Given the description of an element on the screen output the (x, y) to click on. 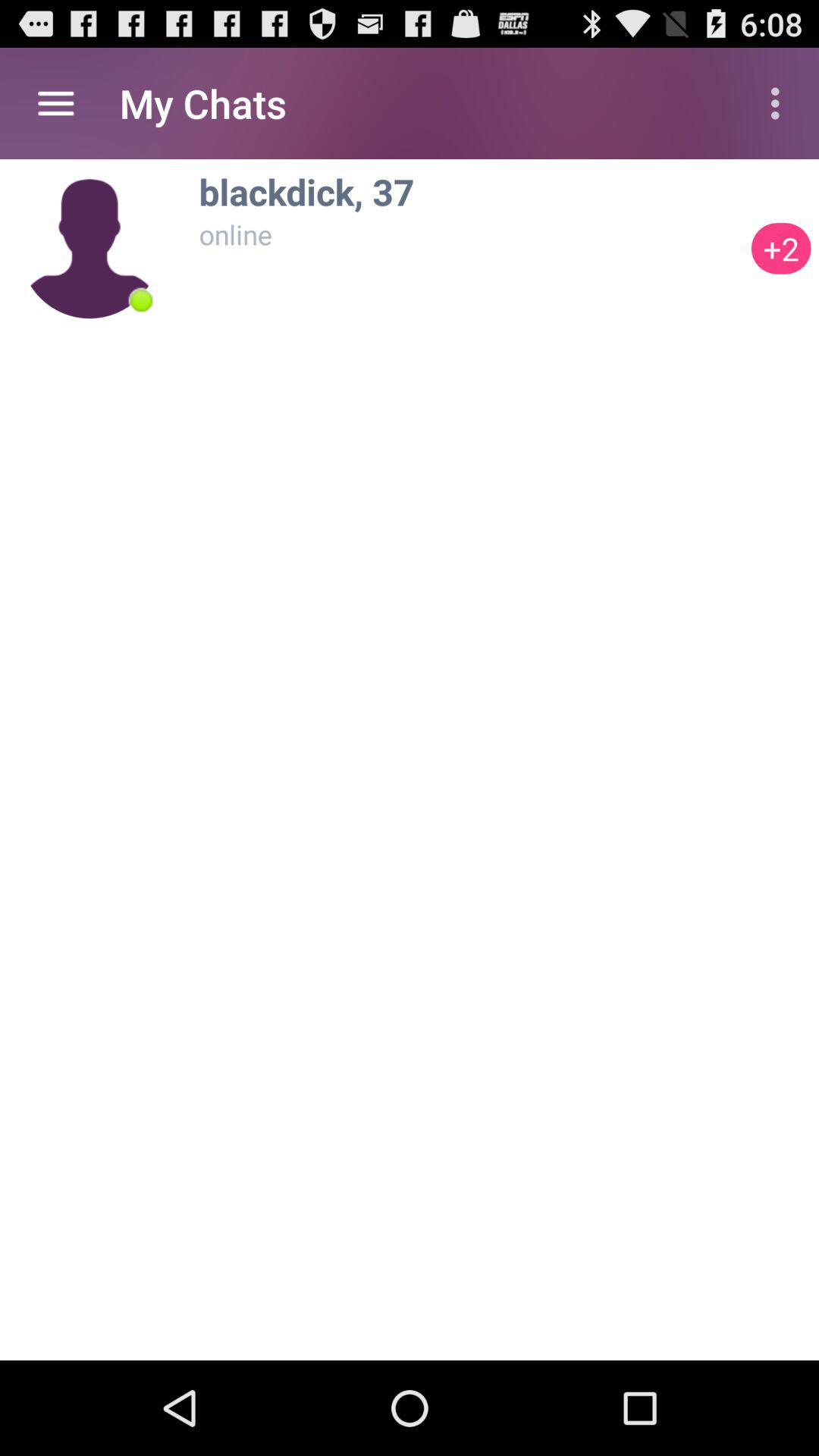
open item below the blackdick, 37 (471, 234)
